Given the description of an element on the screen output the (x, y) to click on. 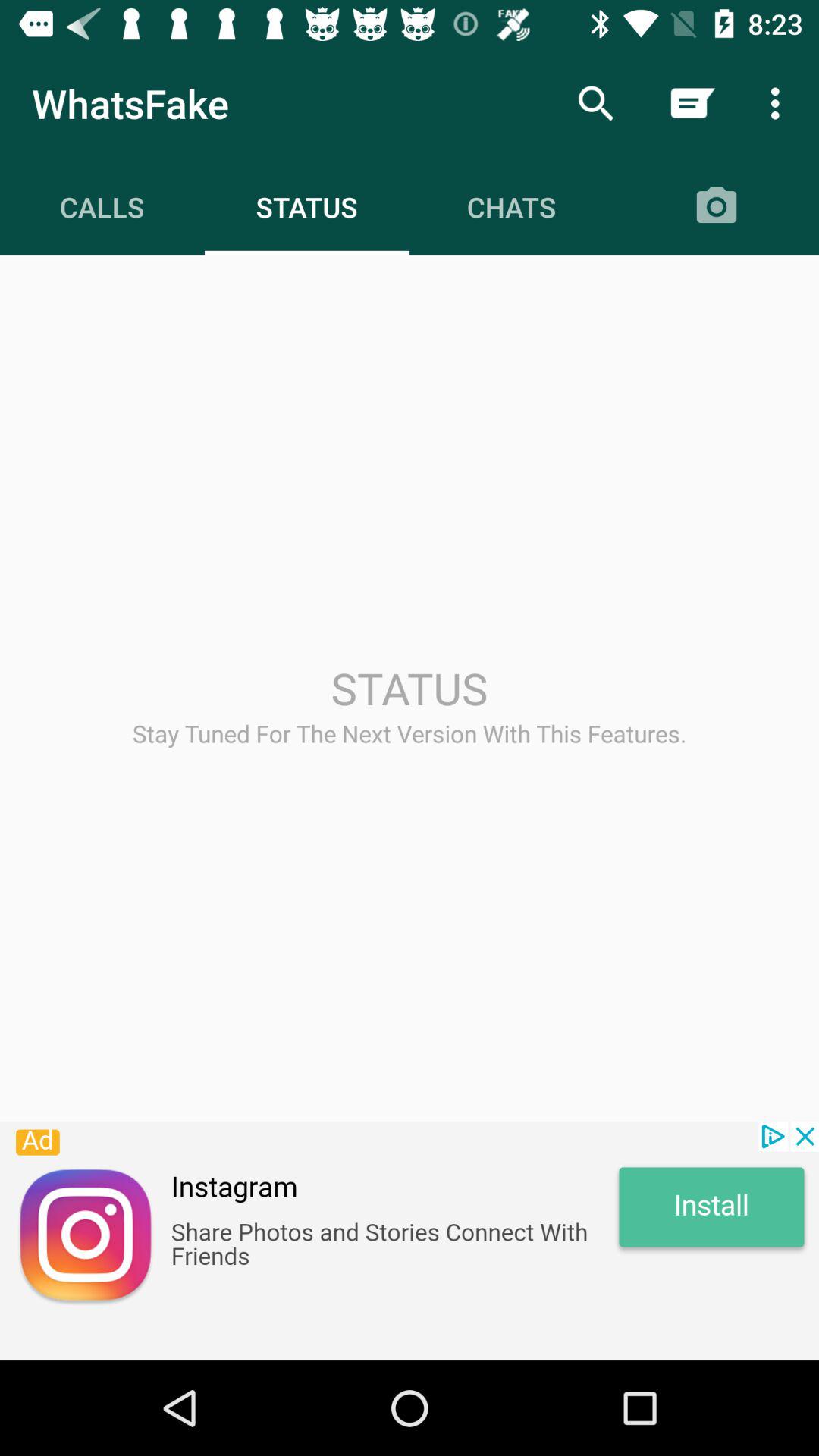
go to advertisement (409, 1240)
